Given the description of an element on the screen output the (x, y) to click on. 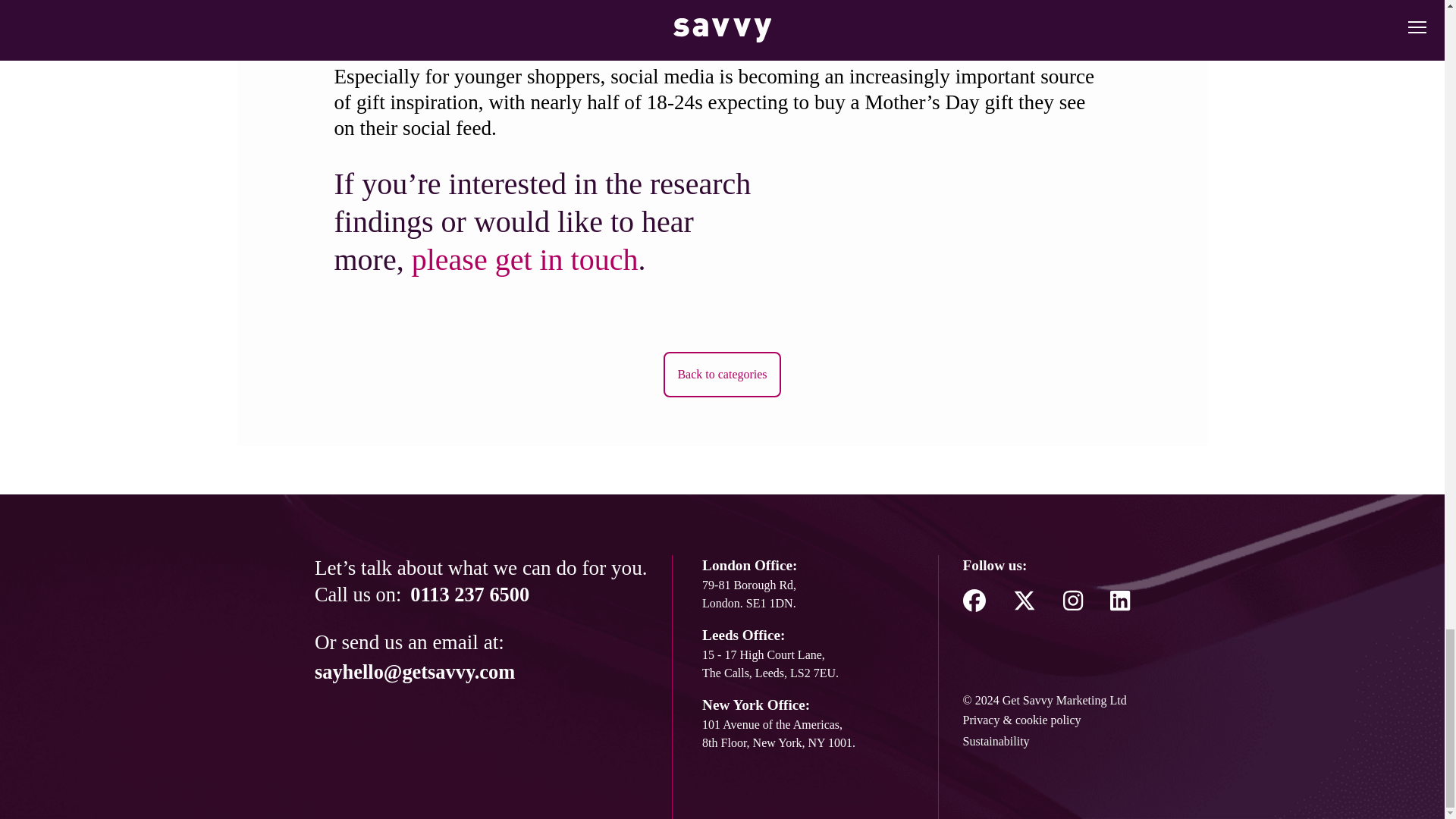
Back to categories (721, 374)
please get in touch (525, 259)
0113 237 6500 (469, 594)
Sustainability (1046, 741)
